Given the description of an element on the screen output the (x, y) to click on. 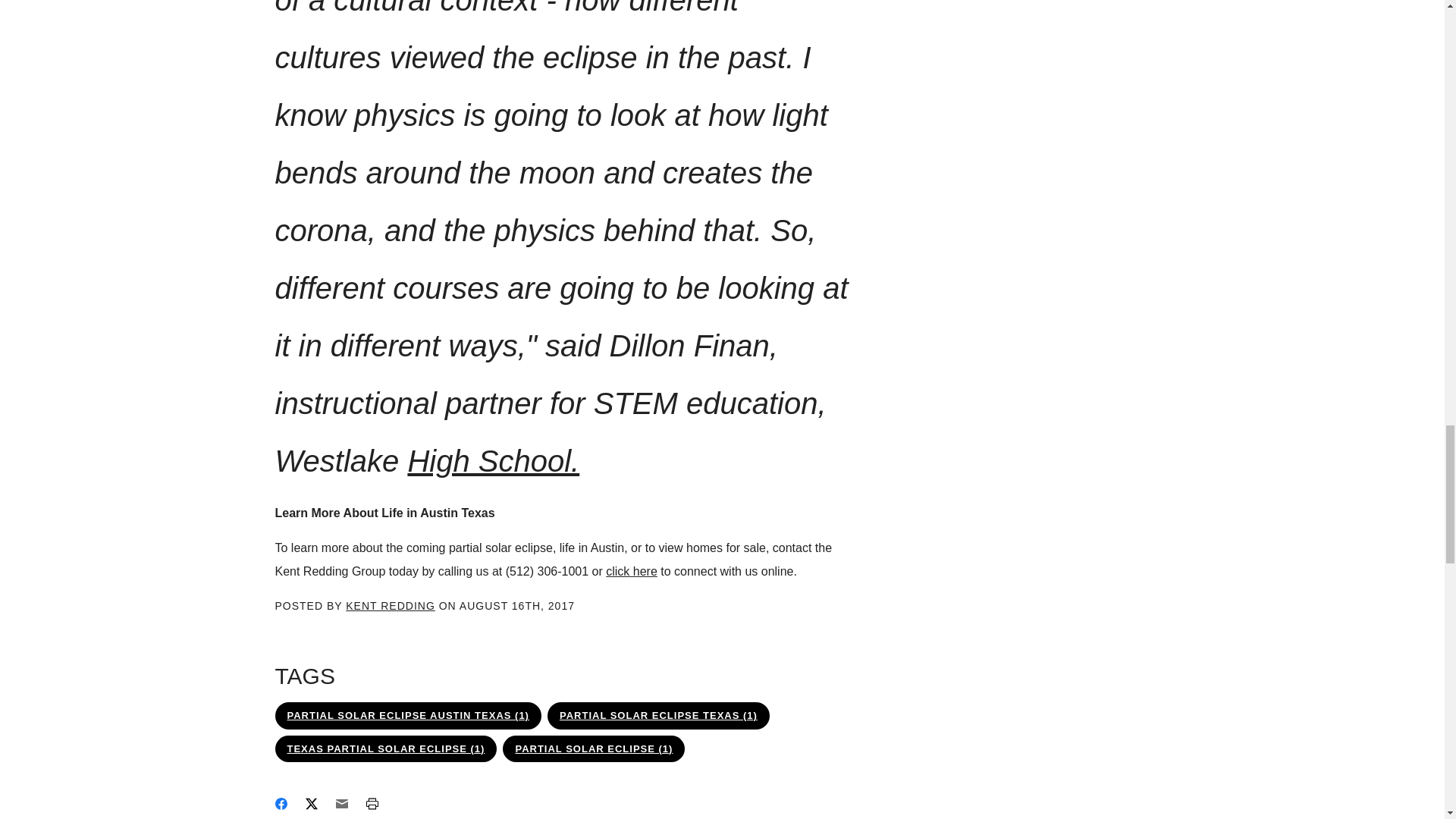
texas partial solar eclipse (385, 748)
partial solar eclipse (593, 748)
partial solar eclipse texas (658, 715)
partial solar eclipse austin texas (407, 715)
